Given the description of an element on the screen output the (x, y) to click on. 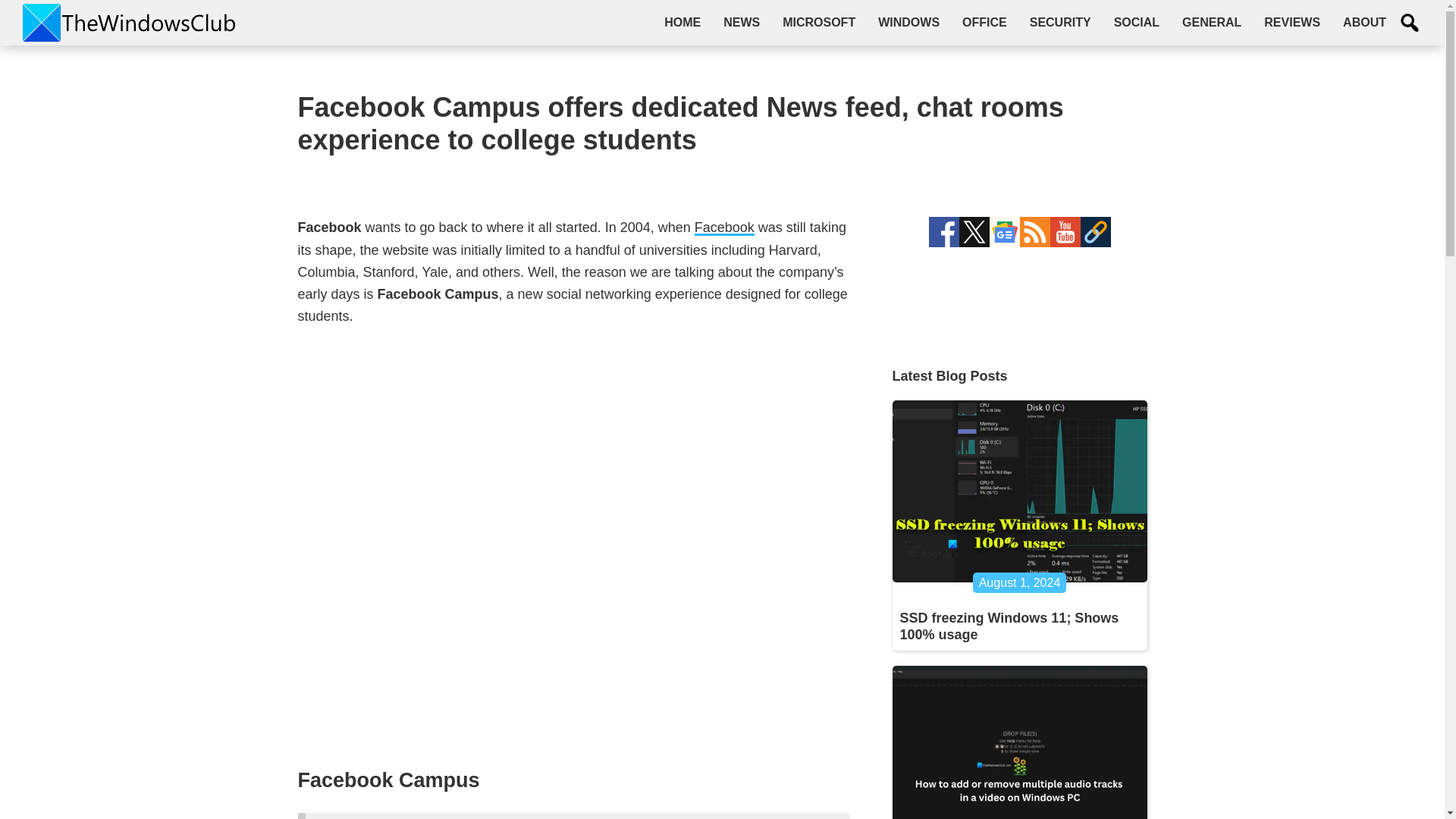
HOME (681, 22)
GENERAL (1211, 22)
ABOUT (1364, 22)
WINDOWS (908, 22)
REVIEWS (1292, 22)
Show Search (1409, 22)
NEWS (741, 22)
SOCIAL (1136, 22)
SECURITY (1059, 22)
MICROSOFT (818, 22)
OFFICE (983, 22)
Facebook (724, 227)
